Given the description of an element on the screen output the (x, y) to click on. 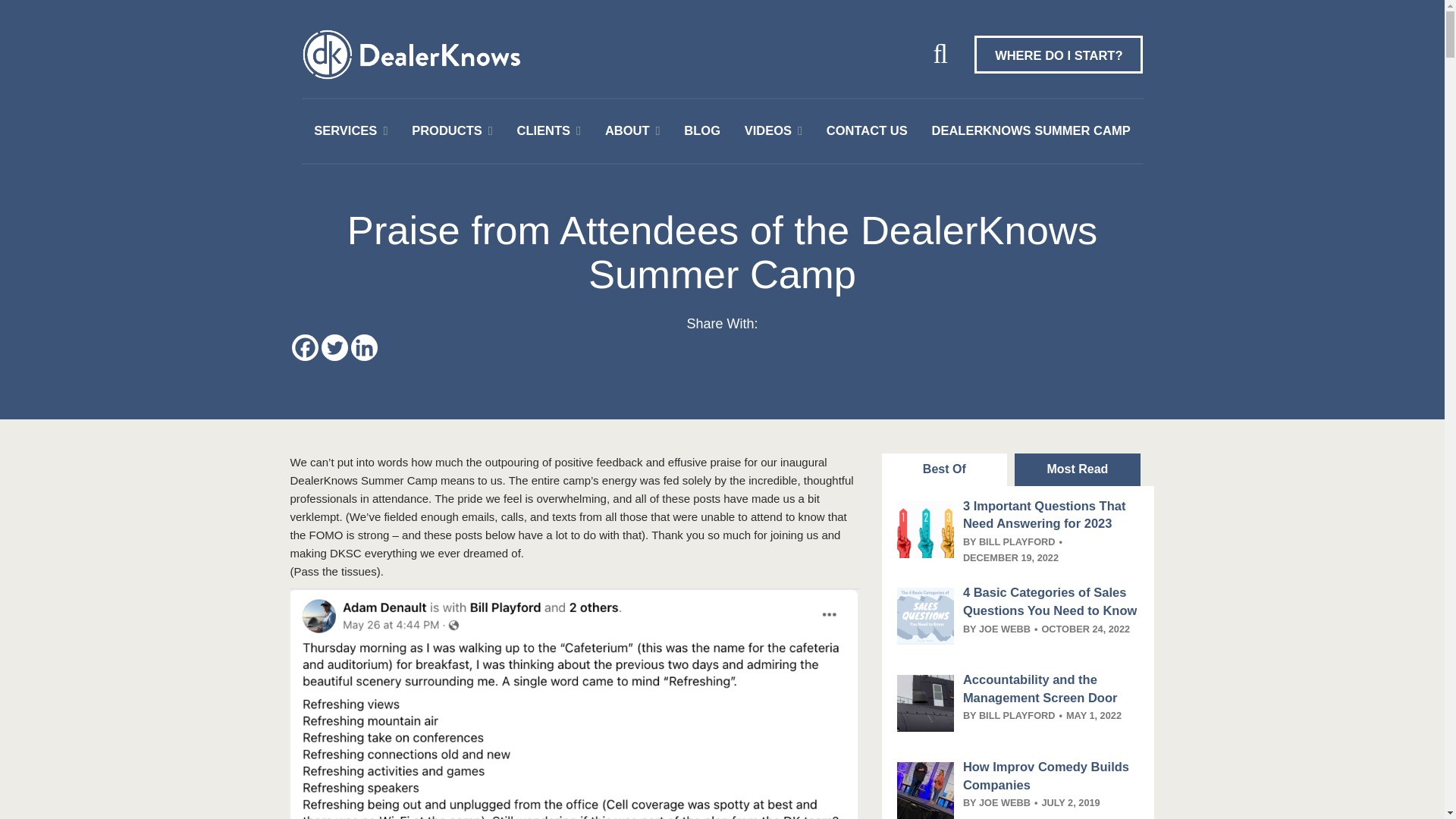
CONTACT US (867, 131)
Facebook (304, 347)
VIDEOS (768, 131)
WHERE DO I START? (1058, 55)
BLOG (702, 131)
SERVICES (345, 131)
ABOUT (627, 131)
DEALERKNOWS SUMMER CAMP (1031, 131)
PRODUCTS (446, 131)
CLIENTS (543, 131)
Linkedin (363, 347)
Twitter (334, 347)
